Given the description of an element on the screen output the (x, y) to click on. 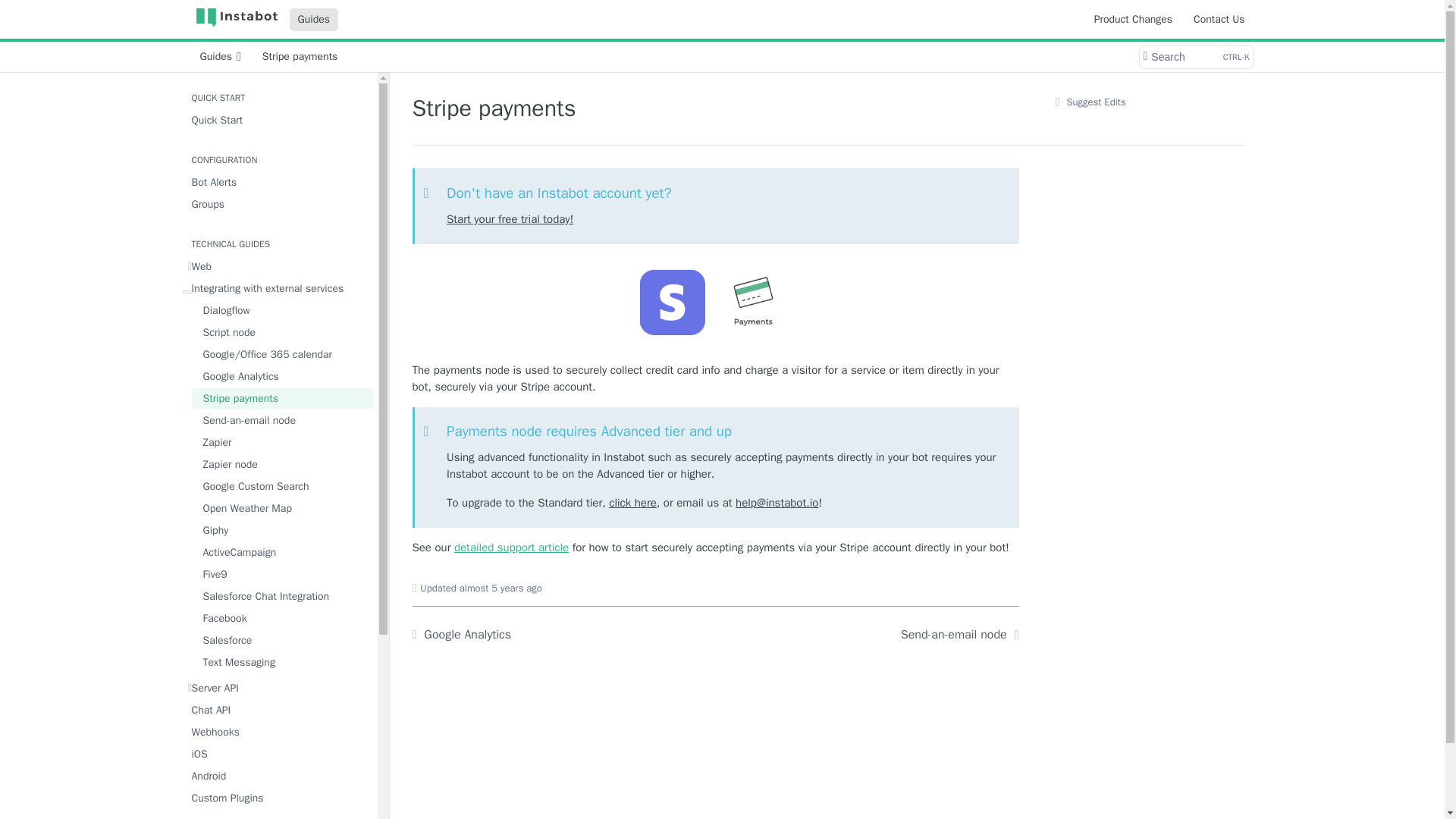
Guides (219, 56)
Quick Start (277, 119)
Script node (281, 332)
Screen Shot 2019-09-27 at 10.49.06 AM.png (715, 302)
Guides (314, 18)
Web (277, 266)
Product Changes (1133, 18)
Groups (277, 204)
Contact Us (1218, 18)
Google Analytics (281, 376)
